Given the description of an element on the screen output the (x, y) to click on. 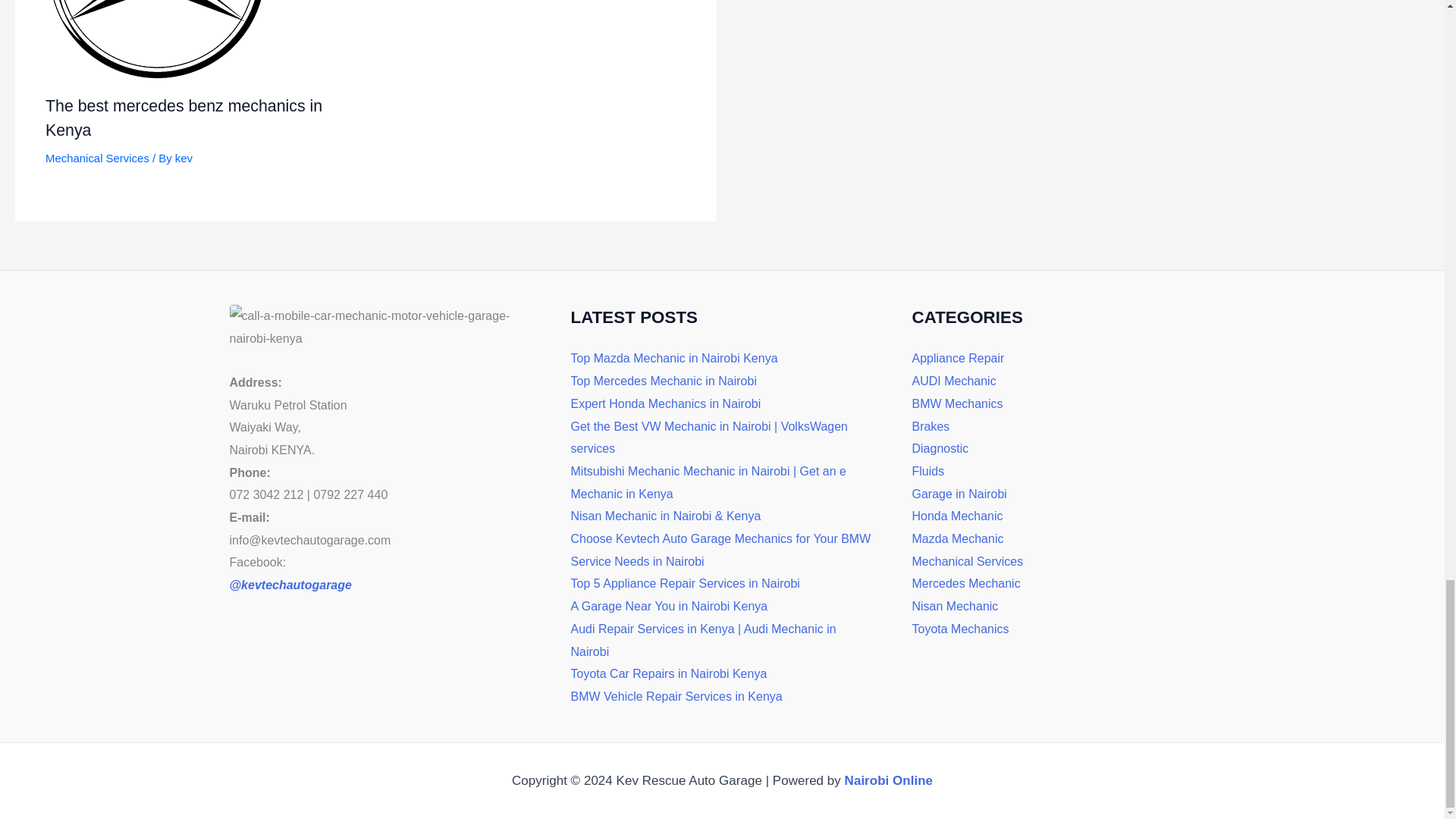
View all posts by kev (183, 157)
Nairobi Online (888, 780)
The best mercedes benz mechanics in Kenya 1 (159, 41)
